Given the description of an element on the screen output the (x, y) to click on. 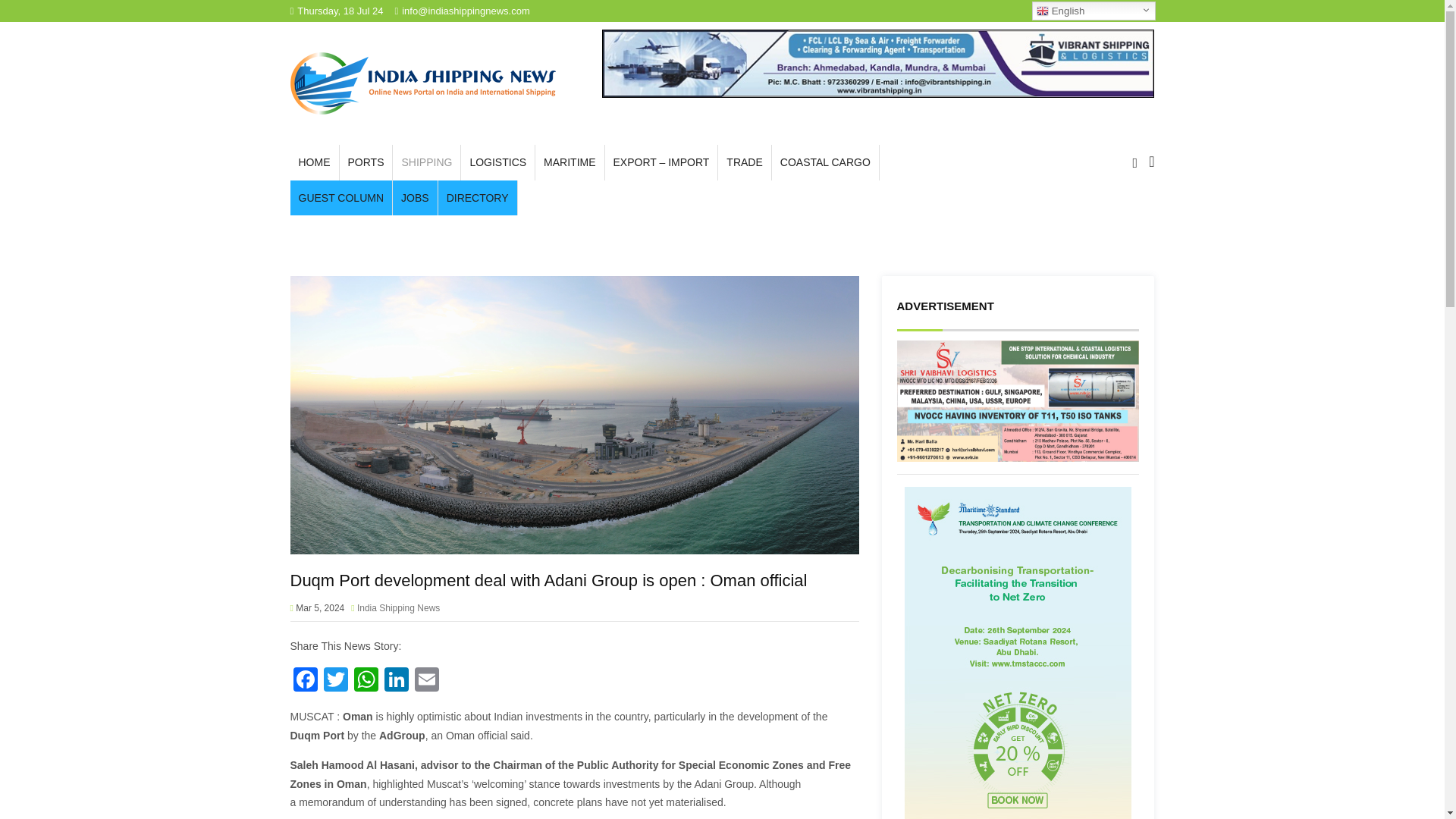
GUEST COLUMN (340, 198)
COASTAL CARGO (825, 162)
India Shipping News (421, 83)
MARITIME (569, 162)
HOME (313, 162)
TRADE (743, 162)
Email (425, 681)
WhatsApp (365, 681)
SHIPPING (426, 162)
Twitter (335, 681)
JOBS (415, 198)
PORTS (366, 162)
DIRECTORY (477, 198)
LinkedIn (395, 681)
LOGISTICS (497, 162)
